Given the description of an element on the screen output the (x, y) to click on. 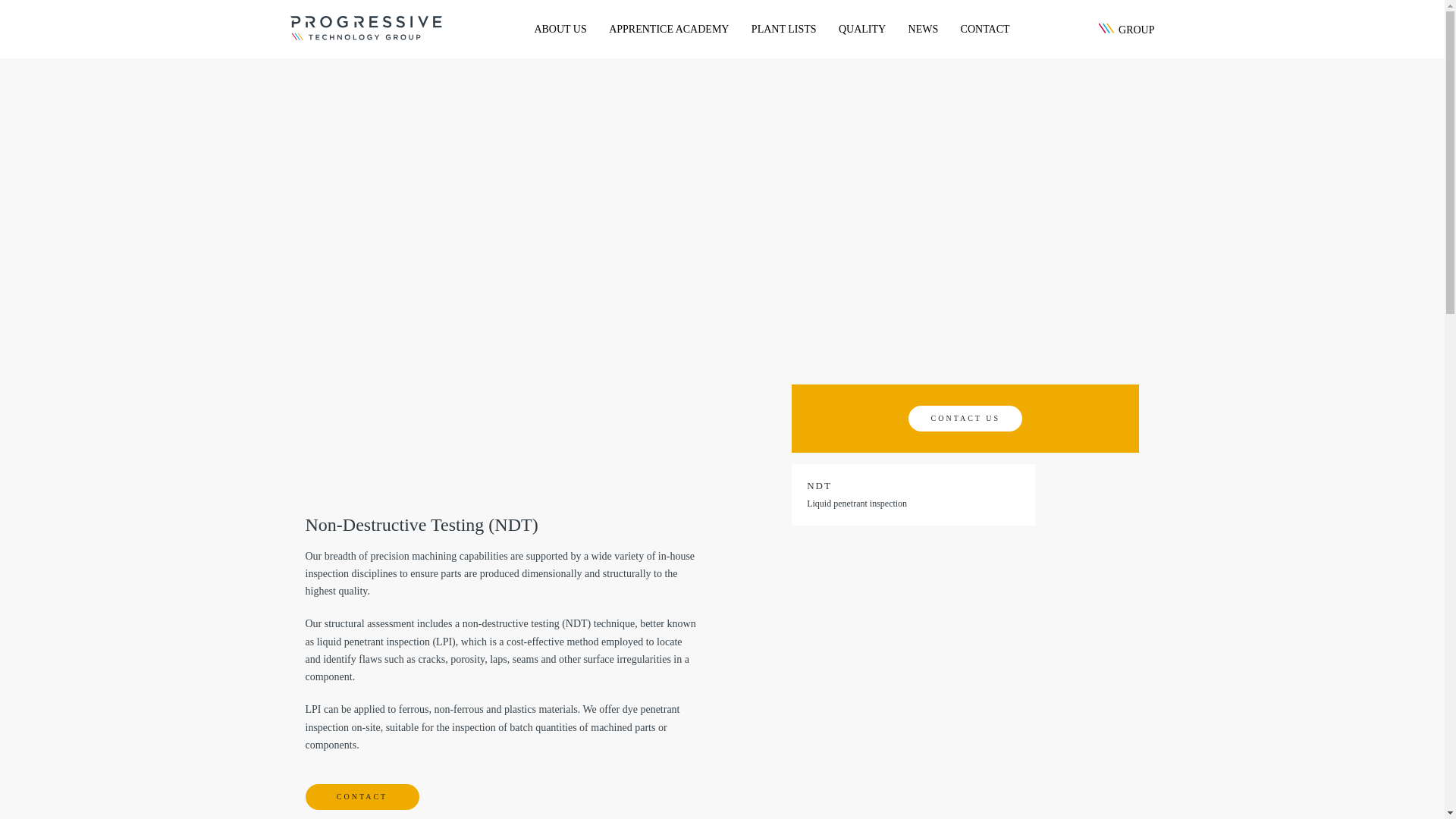
CONTACT (985, 29)
ABOUT US (560, 29)
PLANT LISTS (783, 29)
QUALITY (861, 29)
CONTACT (361, 796)
NDT Dye Penetrant Testing (856, 518)
APPRENTICE ACADEMY (668, 29)
CONTACT US (965, 417)
GROUP (1121, 30)
NEWS (923, 29)
